Given the description of an element on the screen output the (x, y) to click on. 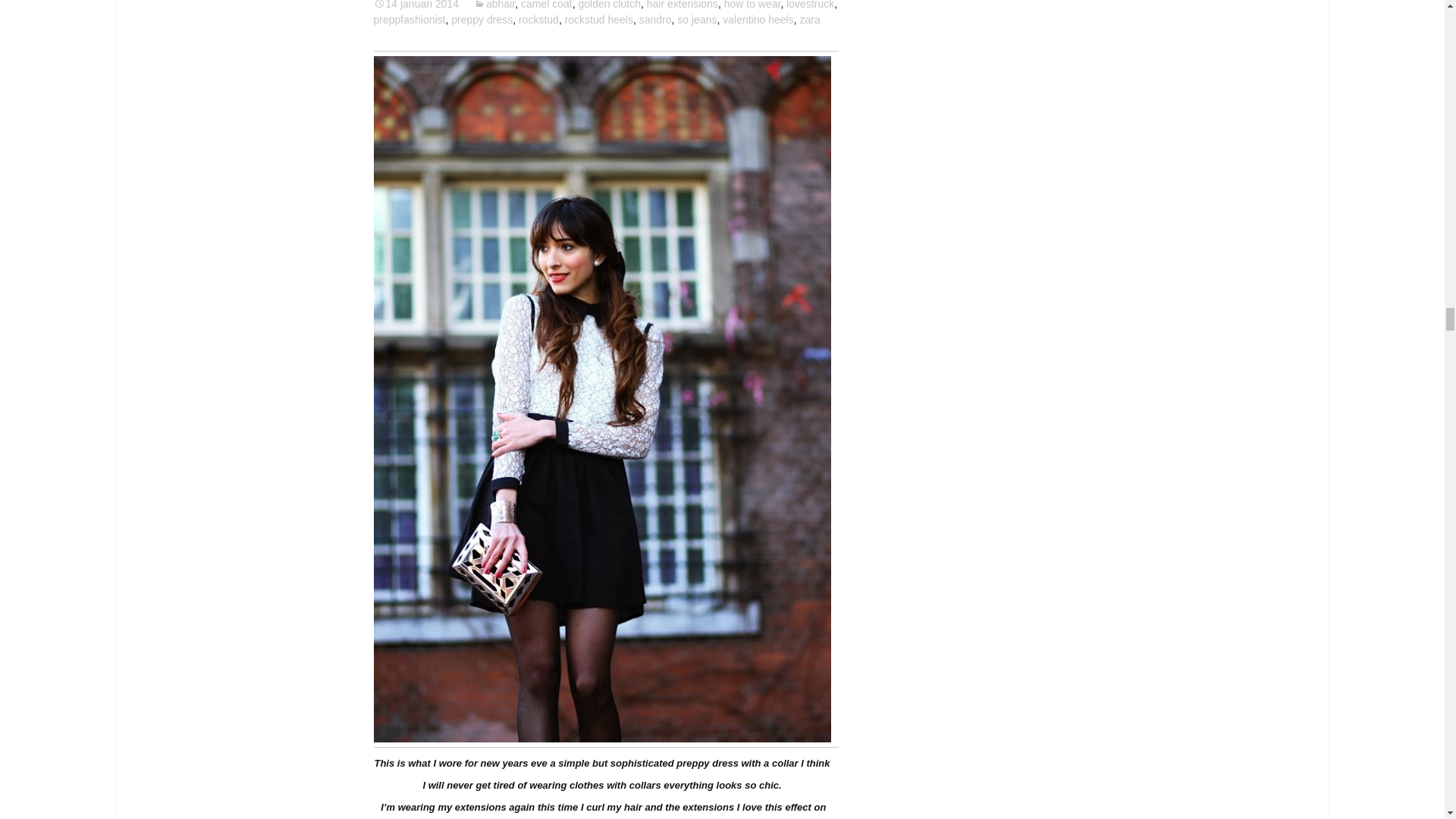
Permalink naar Lovestruck (415, 4)
